Given the description of an element on the screen output the (x, y) to click on. 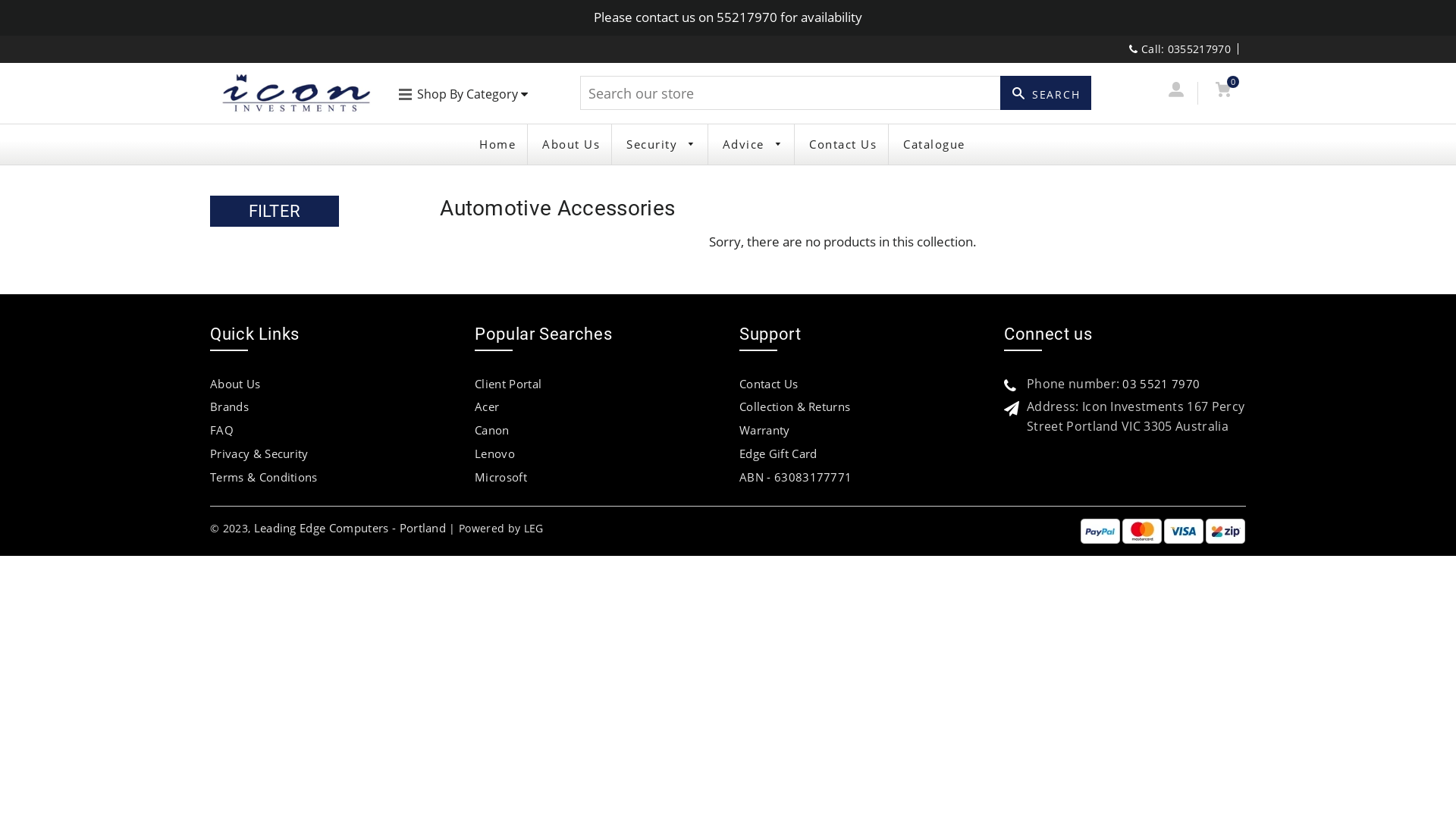
Acer Element type: text (486, 406)
Warranty Element type: text (764, 429)
Microsoft Element type: text (500, 476)
Cart
0 Element type: text (1222, 92)
FAQ Element type: text (221, 429)
Security Element type: text (661, 144)
Log In Element type: text (1175, 92)
About Us Element type: text (235, 383)
Collection & Returns Element type: text (794, 406)
About Us Element type: text (570, 144)
Call: 0355217970 Element type: text (1179, 49)
Edge Gift Card Element type: text (777, 453)
Lenovo Element type: text (494, 453)
03 5521 7970 Element type: text (1160, 383)
Brands Element type: text (229, 406)
Leading Edge Computers - Portland Element type: text (350, 527)
Home Element type: text (497, 144)
Contact Us Element type: text (768, 383)
Advice Element type: text (752, 144)
Catalogue Element type: text (933, 144)
Client Portal Element type: text (507, 383)
Terms & Conditions Element type: text (263, 476)
Canon Element type: text (491, 429)
Privacy & Security Element type: text (259, 453)
Contact Us Element type: text (842, 144)
ABN - 63083177771 Element type: text (795, 476)
SEARCH Element type: text (1045, 92)
